Given the description of an element on the screen output the (x, y) to click on. 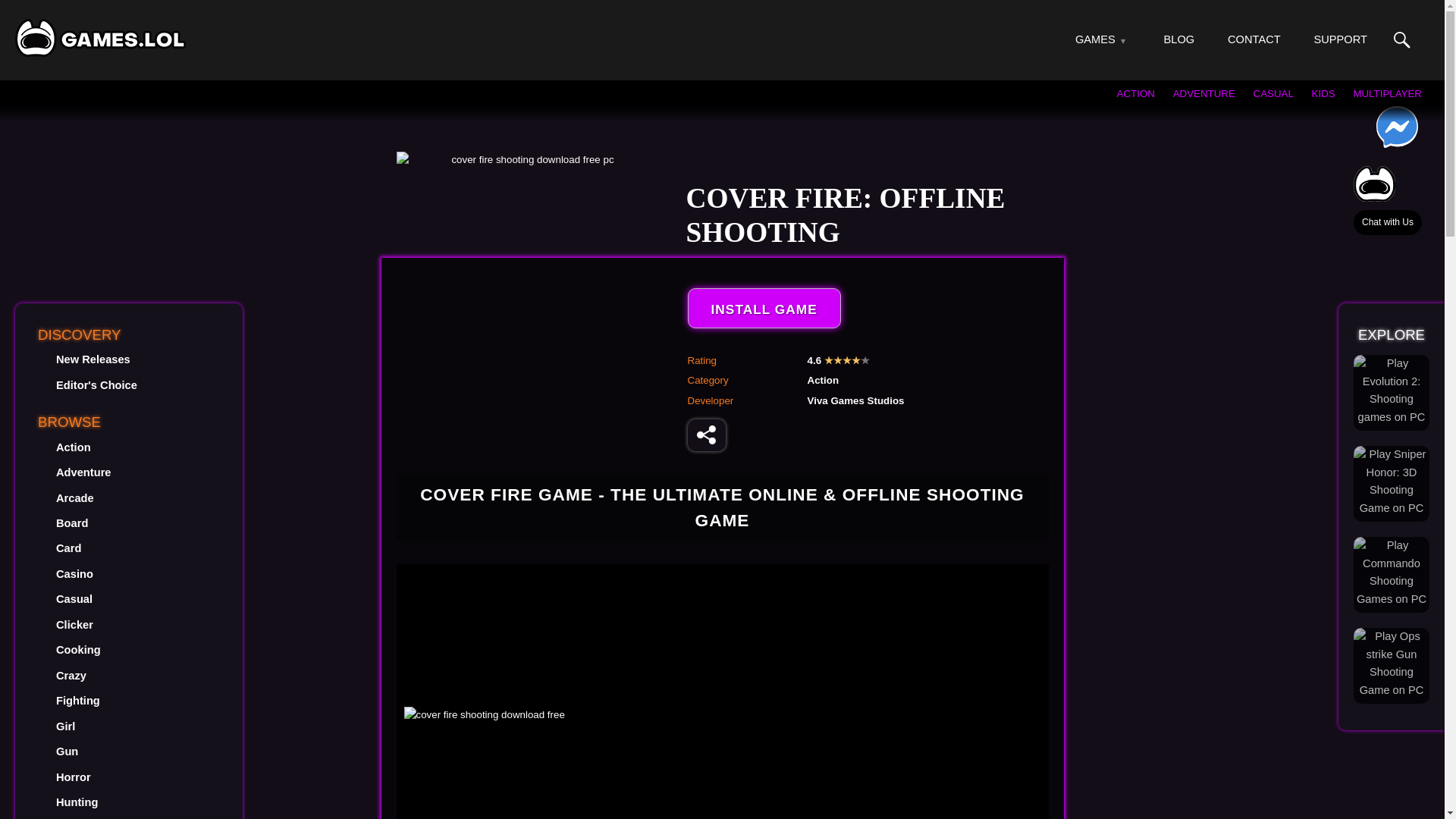
Adventure (83, 472)
GAMES (1095, 39)
CASUAL (1273, 93)
CONTACT (1254, 39)
Games.lol free game download website logo (100, 37)
MULTIPLAYER (1387, 93)
Editor's Choice (96, 385)
BLOG (1179, 39)
Play Evolution 2: Shooting games on PC (1391, 389)
Action (73, 447)
Play Ops strike Gun Shooting Game on PC (1391, 663)
Play Commando Shooting Games on PC (1391, 572)
ACTION (1135, 93)
New Releases (93, 358)
KIDS (1323, 93)
